Given the description of an element on the screen output the (x, y) to click on. 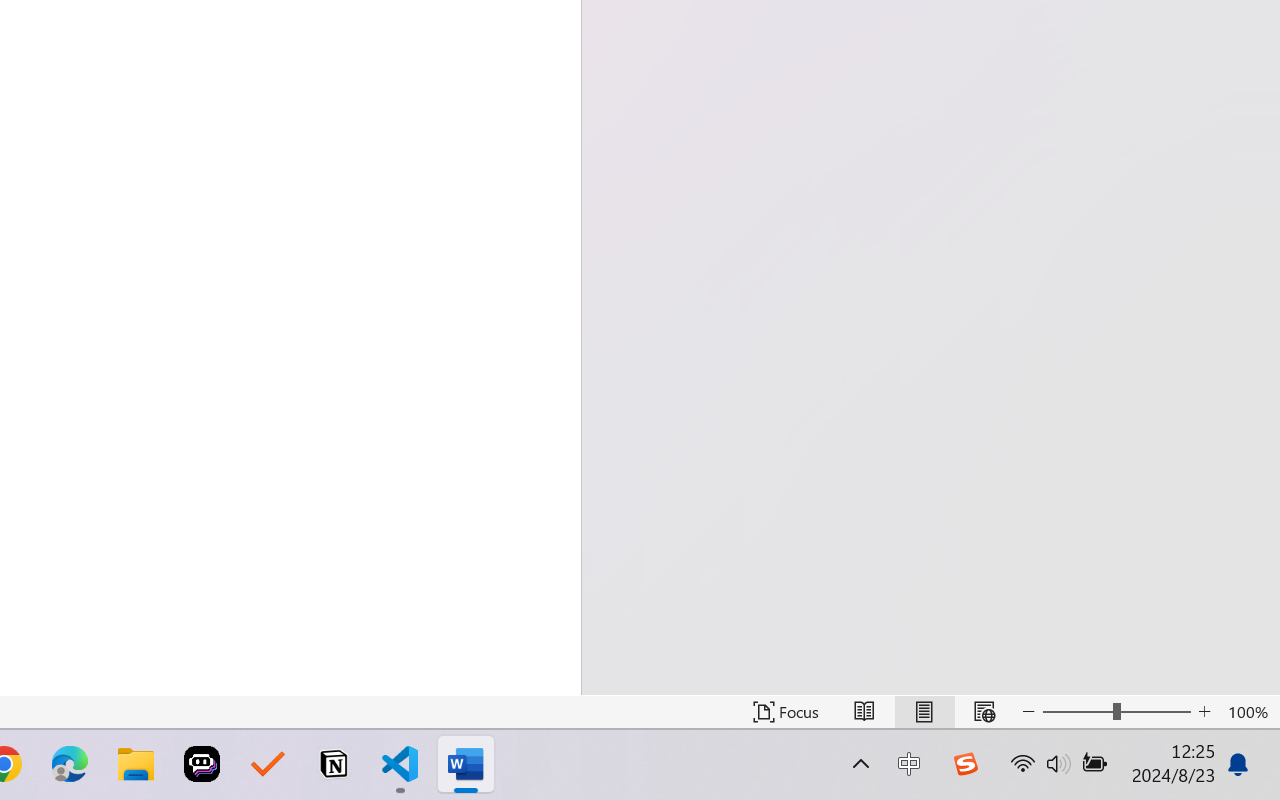
Zoom 100% (1249, 712)
